Given the description of an element on the screen output the (x, y) to click on. 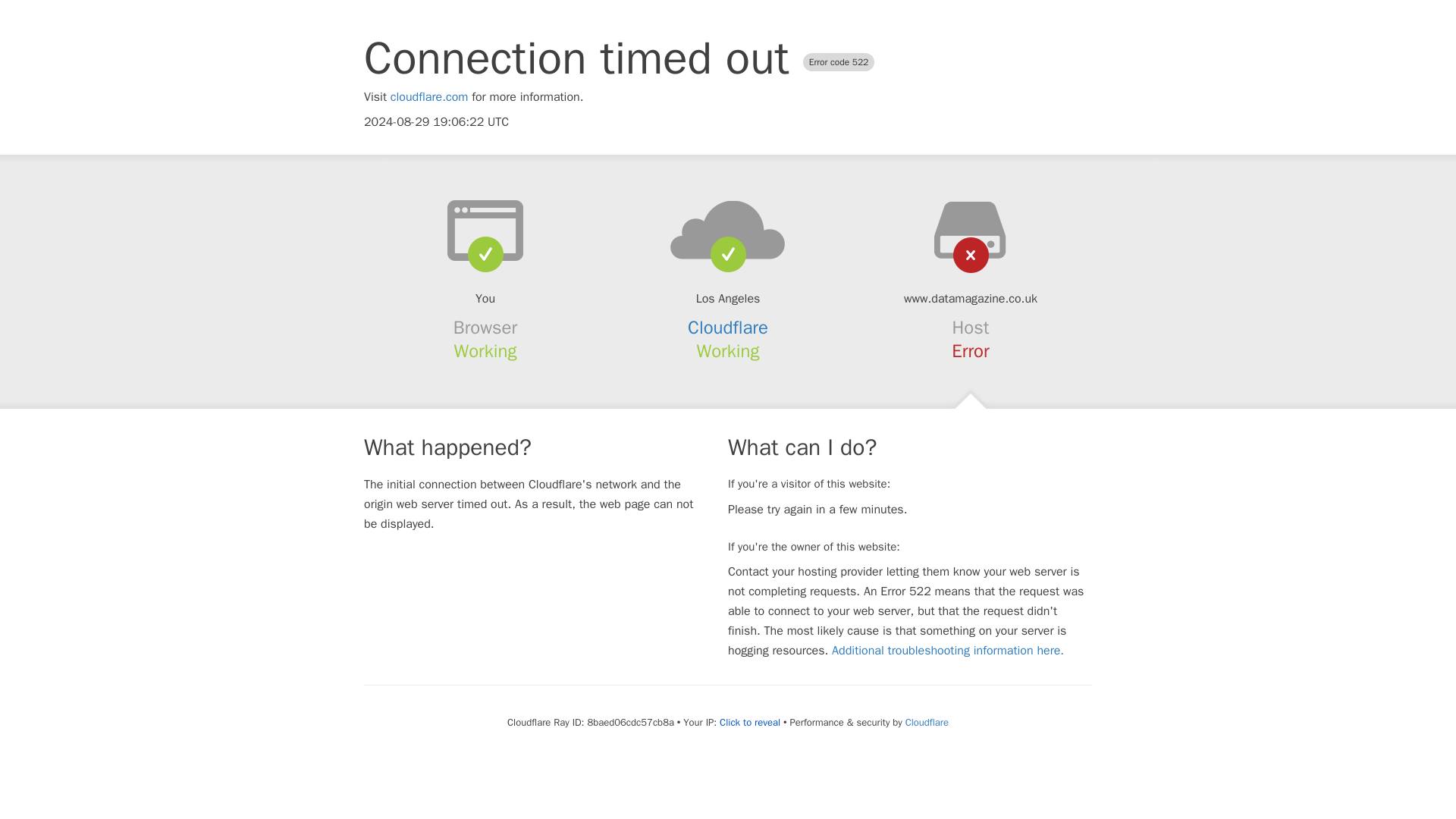
Cloudflare (727, 327)
Click to reveal (749, 722)
Cloudflare (927, 721)
cloudflare.com (429, 96)
Additional troubleshooting information here. (947, 650)
